Given the description of an element on the screen output the (x, y) to click on. 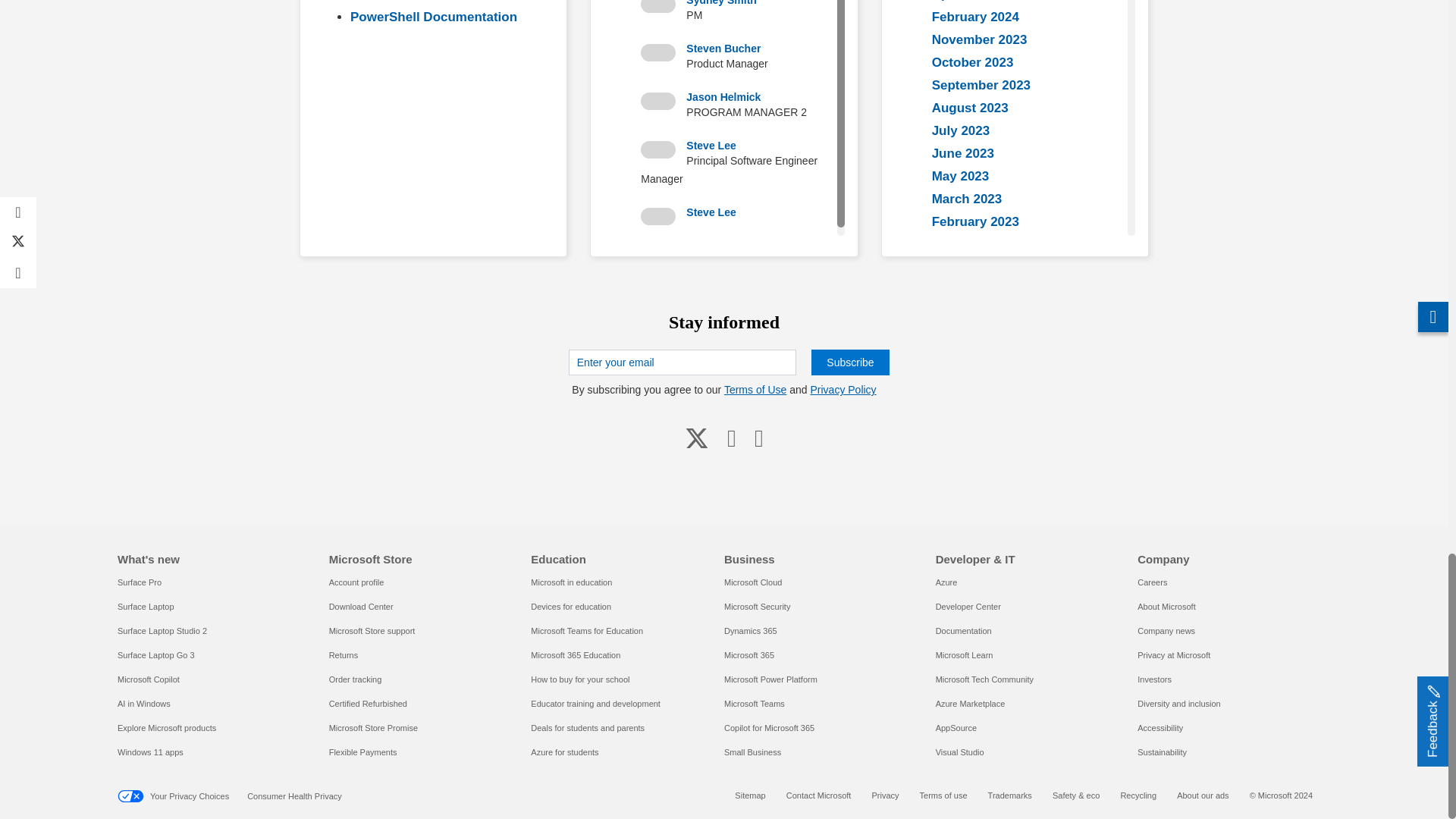
twitter (696, 437)
youtube (731, 437)
RSS Feed (759, 437)
Subscribe (849, 362)
